Given the description of an element on the screen output the (x, y) to click on. 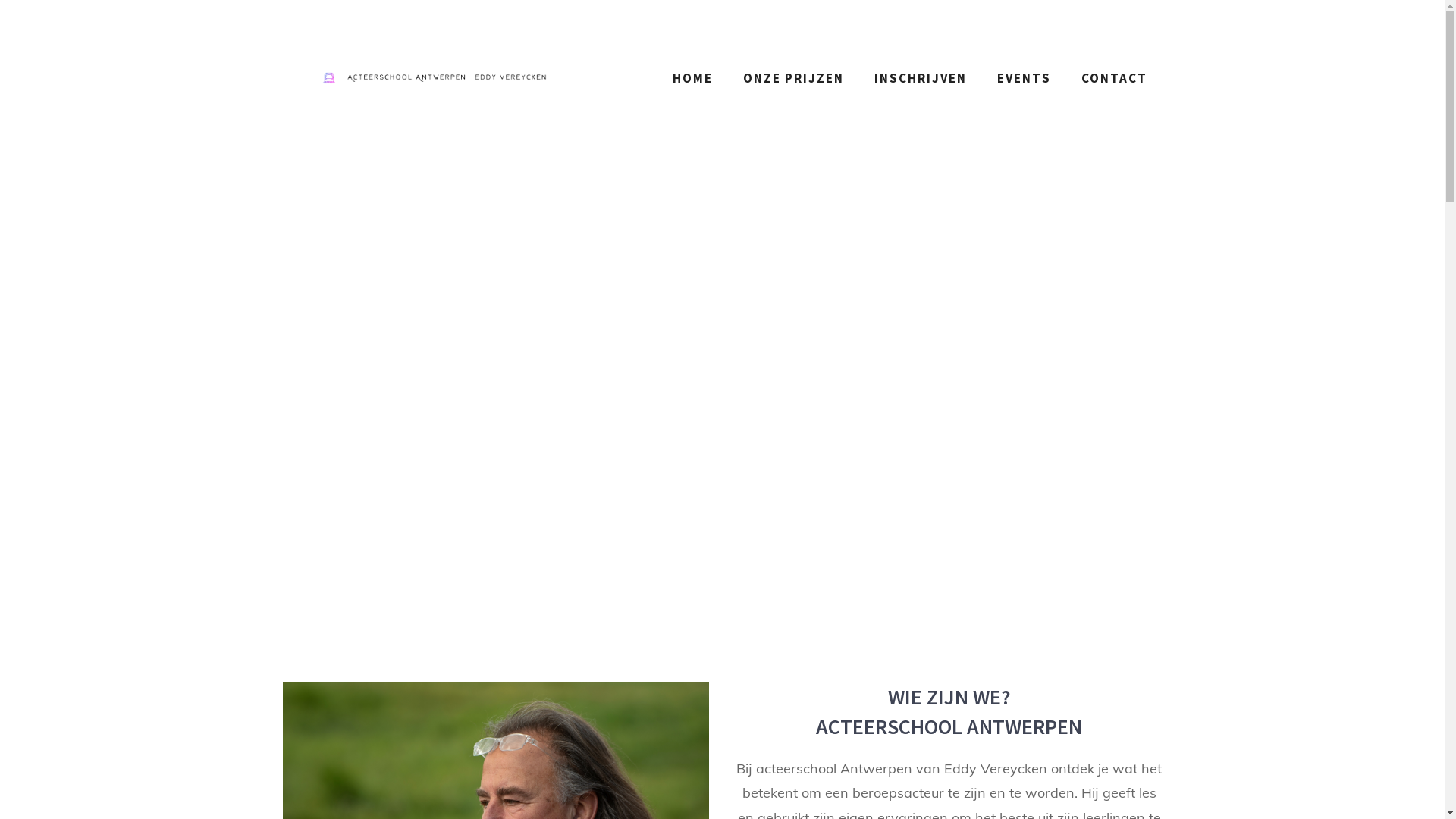
ONZE PRIJZEN Element type: text (793, 78)
INSCHRIJVEN Element type: text (919, 78)
CONTACTEER ONS Element type: text (886, 19)
Acteerschool Antwerpen Element type: hover (433, 78)
HOME Element type: text (691, 78)
EVENTS Element type: text (1023, 78)
CONTACT Element type: text (1114, 78)
Ontdek meer Element type: text (721, 386)
